Given the description of an element on the screen output the (x, y) to click on. 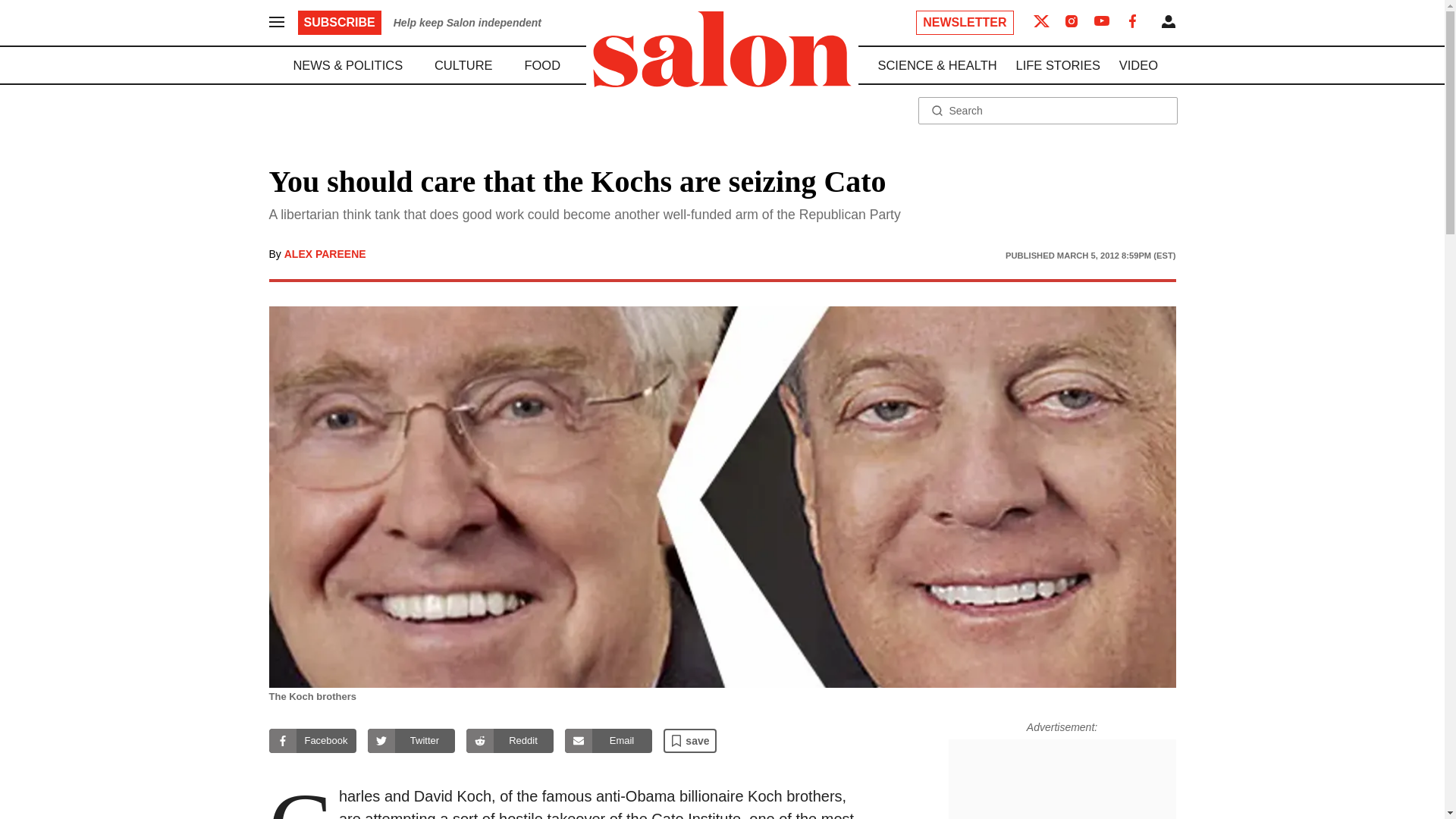
NEWSLETTER (964, 22)
SUBSCRIBE (338, 22)
